Given the description of an element on the screen output the (x, y) to click on. 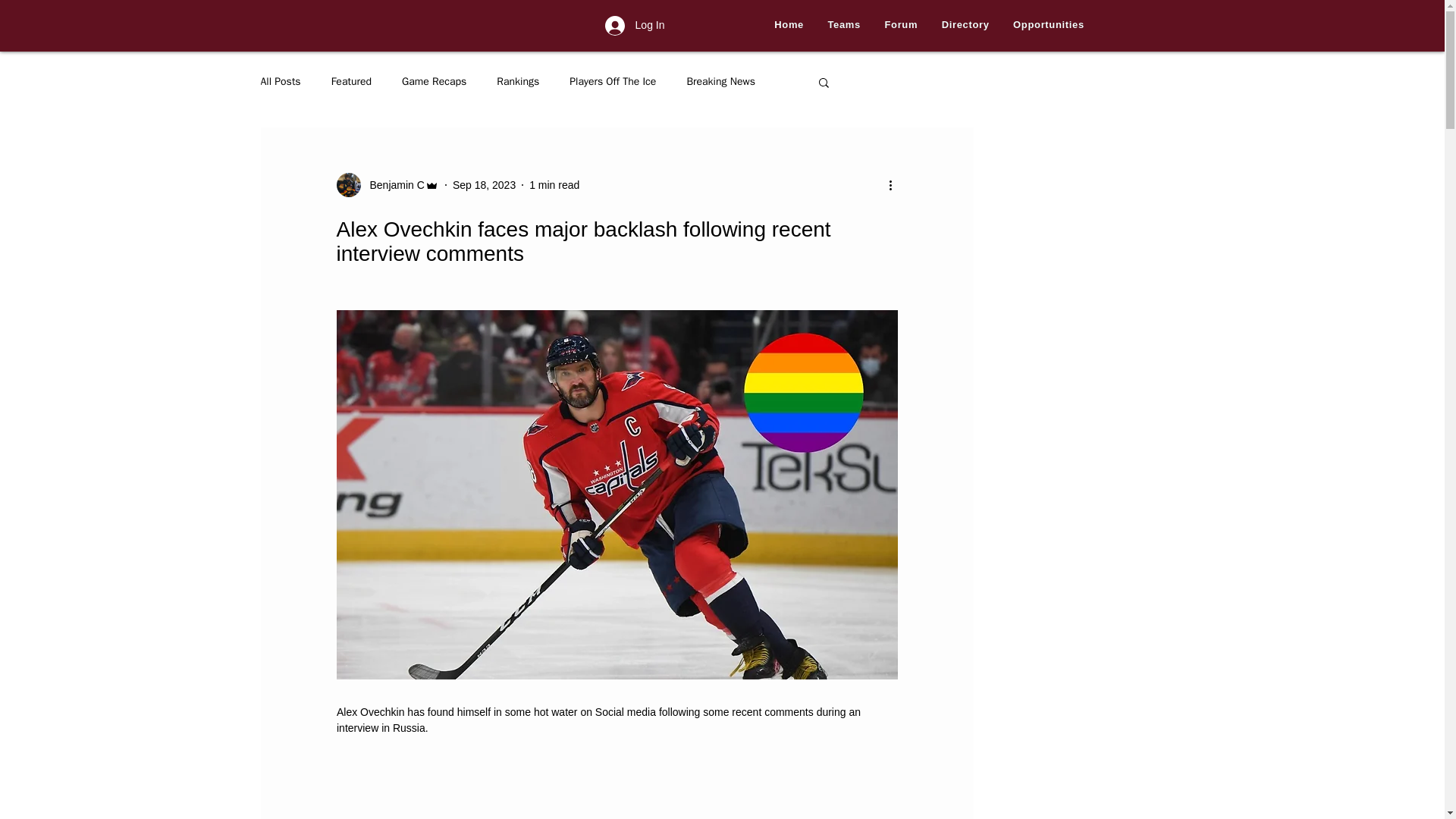
Directory (965, 25)
Forum (901, 25)
Rankings (517, 81)
Log In (634, 25)
Home (788, 25)
Opportunities (1048, 25)
Game Recaps (433, 81)
1 min read (554, 184)
Sep 18, 2023 (483, 184)
Benjamin C (393, 185)
All Posts (280, 81)
Players Off The Ice (612, 81)
Featured (351, 81)
Breaking News (720, 81)
